Given the description of an element on the screen output the (x, y) to click on. 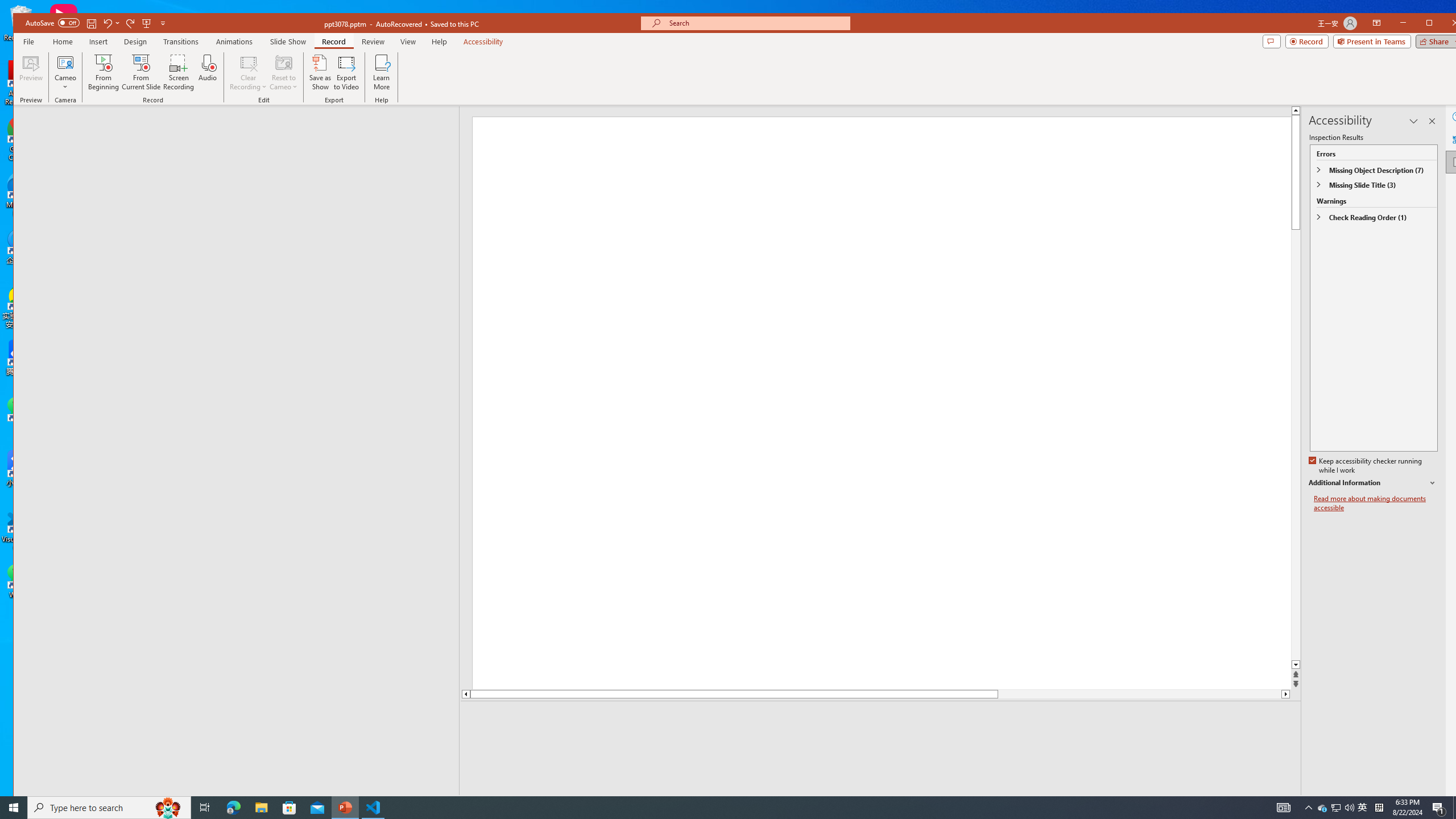
Menu On (1235, 802)
Slide Show Previous On (1217, 802)
